Given the description of an element on the screen output the (x, y) to click on. 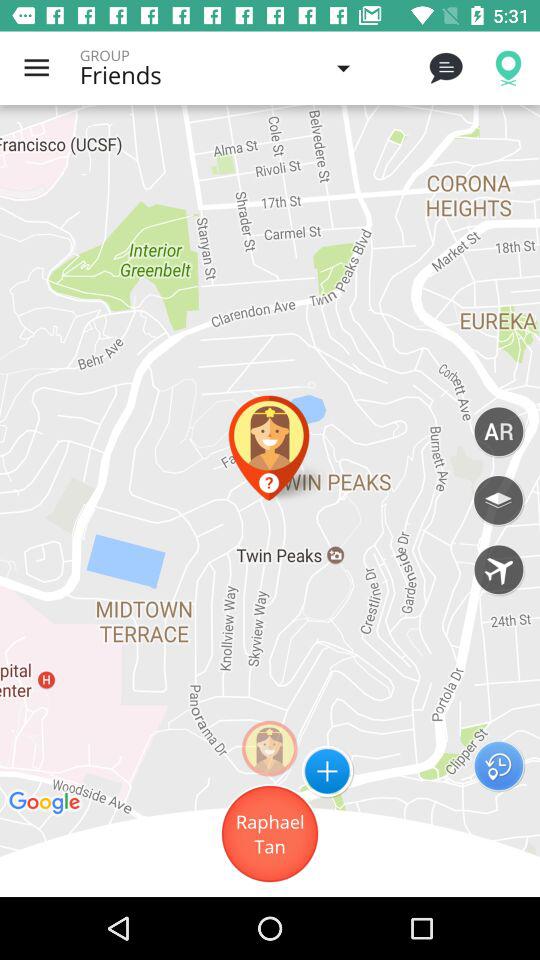
button to see who is traveling (498, 569)
